Given the description of an element on the screen output the (x, y) to click on. 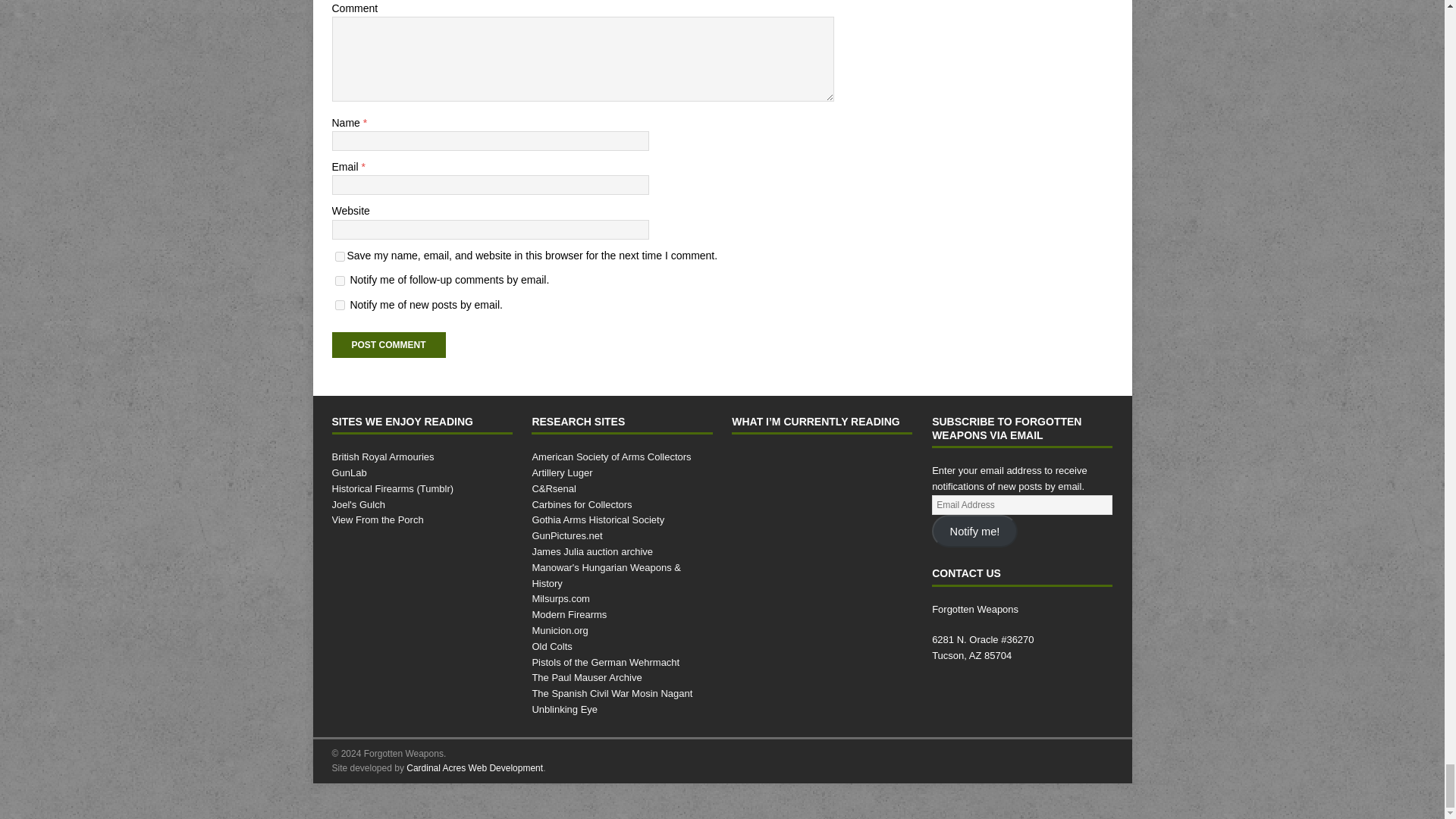
yes (339, 256)
subscribe (339, 305)
subscribe (339, 280)
Post Comment (388, 344)
